Given the description of an element on the screen output the (x, y) to click on. 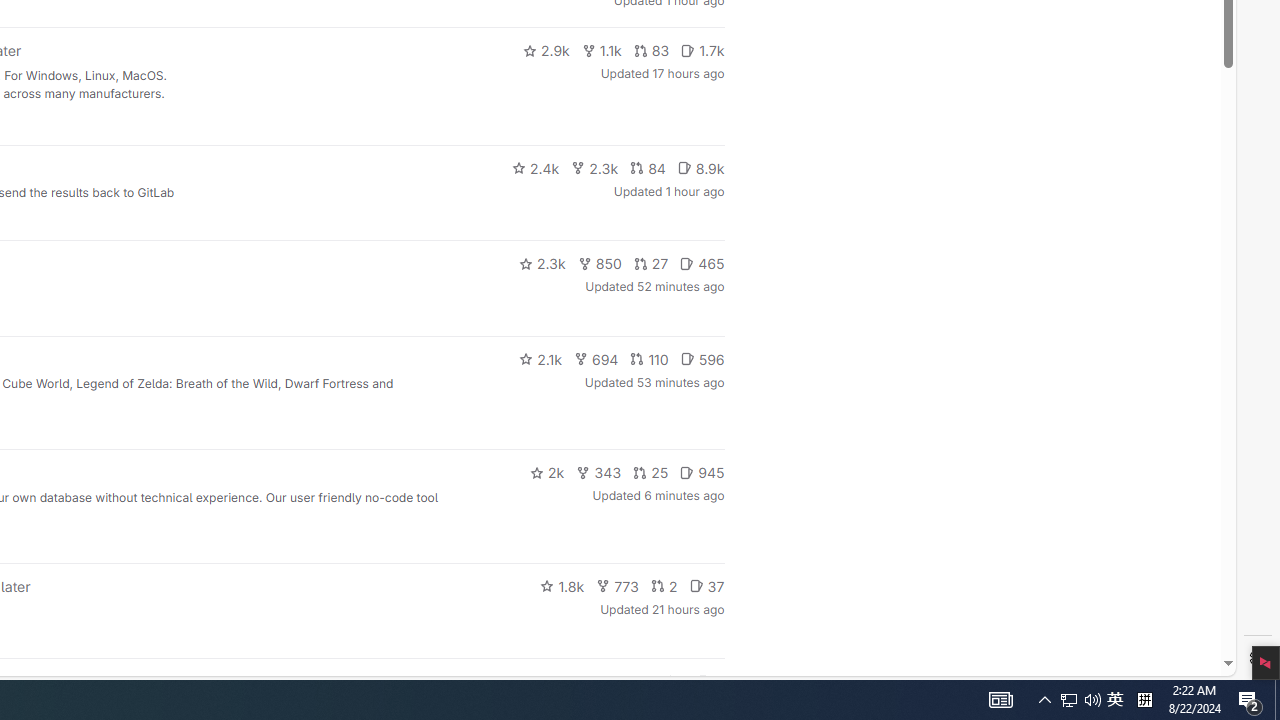
1.4k (573, 681)
Class: s14 gl-mr-2 (704, 681)
83 (651, 50)
8.9k (700, 167)
2.1k (539, 358)
596 (701, 358)
945 (701, 472)
343 (599, 472)
6 (710, 681)
773 (618, 585)
1.1k (601, 50)
1 (673, 681)
2k (546, 472)
2.9k (545, 50)
